Given the description of an element on the screen output the (x, y) to click on. 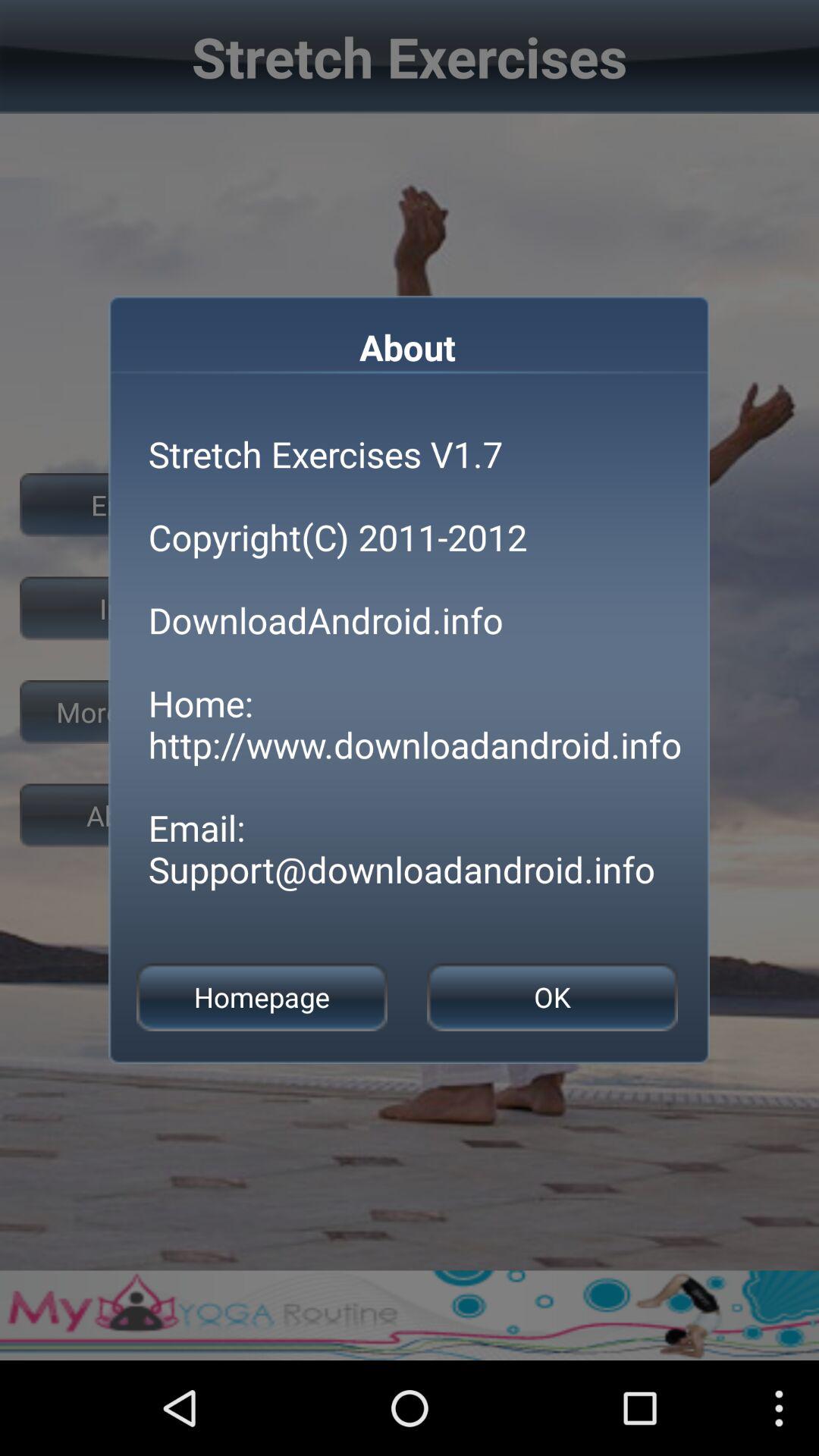
turn on button to the right of the homepage item (552, 997)
